Given the description of an element on the screen output the (x, y) to click on. 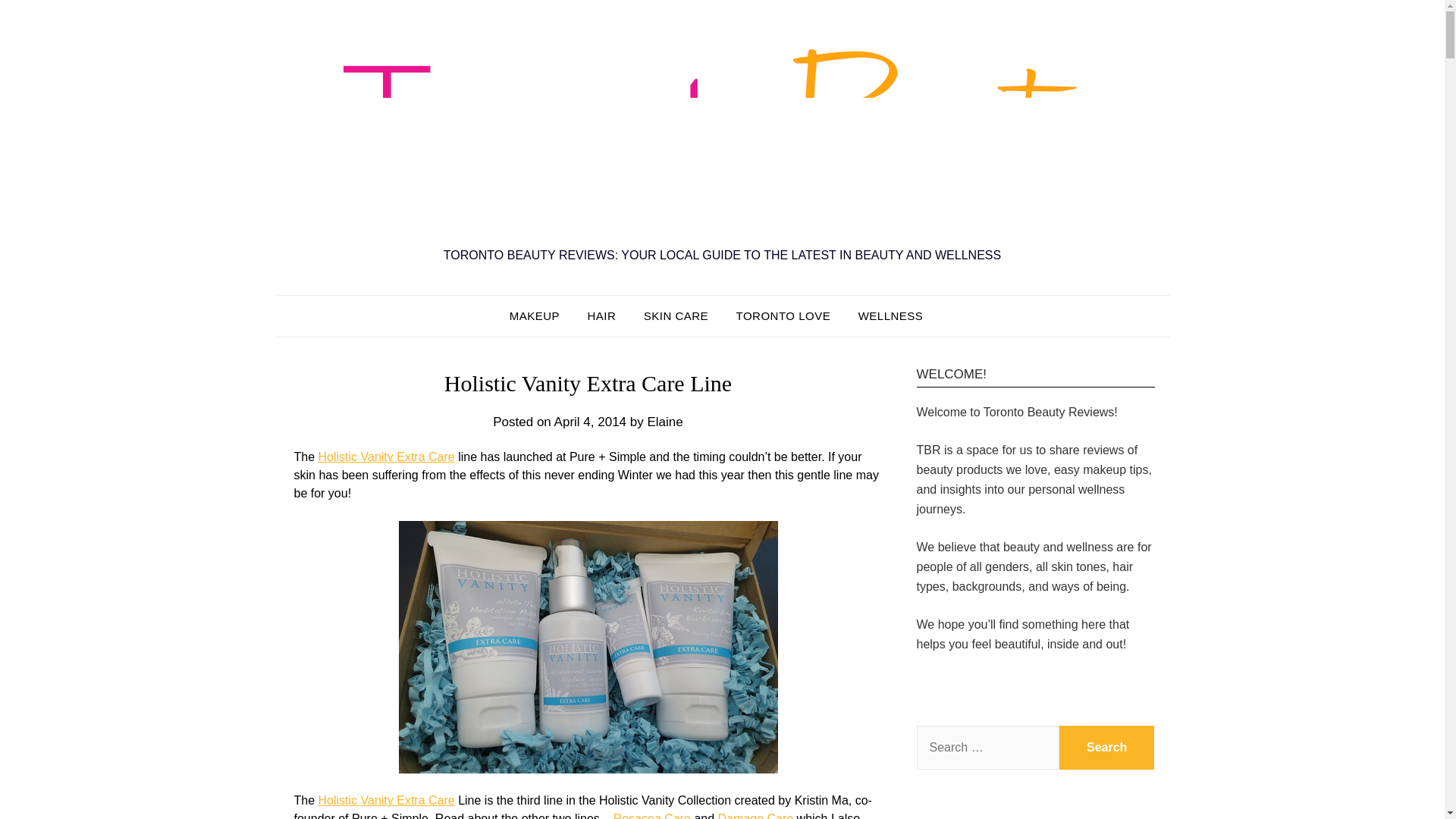
April 4, 2014 (590, 421)
Holistic Vanity Extra Care (386, 456)
Search (1106, 747)
Elaine (664, 421)
HAIR (601, 315)
TORONTO LOVE (783, 315)
Holistic Vanity Extra Care (386, 799)
Search (1106, 747)
MAKEUP (540, 315)
WELLNESS (890, 315)
SKIN CARE (675, 315)
